Given the description of an element on the screen output the (x, y) to click on. 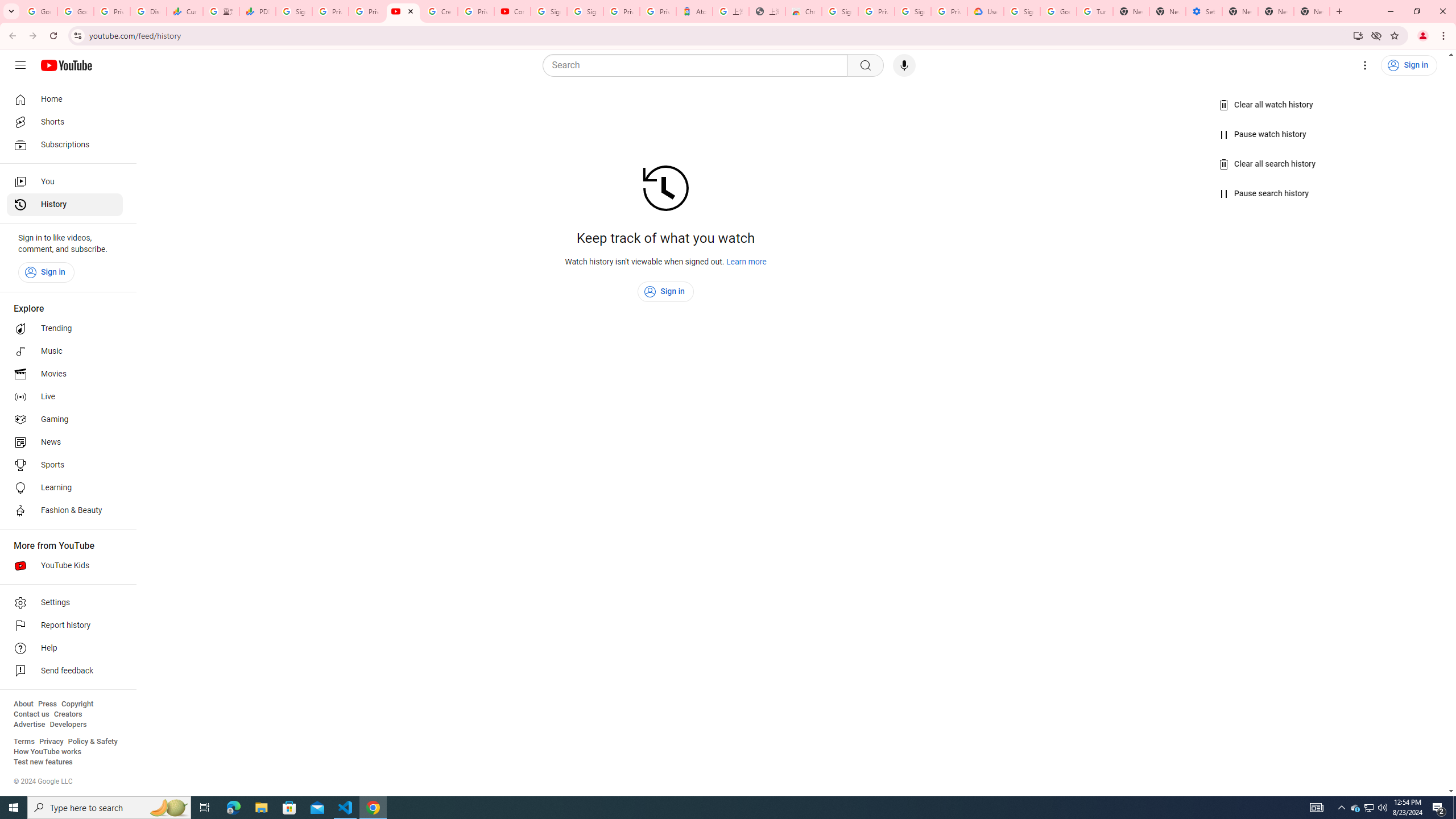
Atour Hotel - Google hotels (694, 11)
New Tab (1131, 11)
How YouTube works (47, 751)
Settings (1365, 65)
Test new features (42, 761)
Learning (64, 487)
Settings (64, 602)
Install YouTube (1358, 35)
Google Workspace Admin Community (39, 11)
YouTube Kids (64, 565)
Sign in - Google Accounts (548, 11)
